Given the description of an element on the screen output the (x, y) to click on. 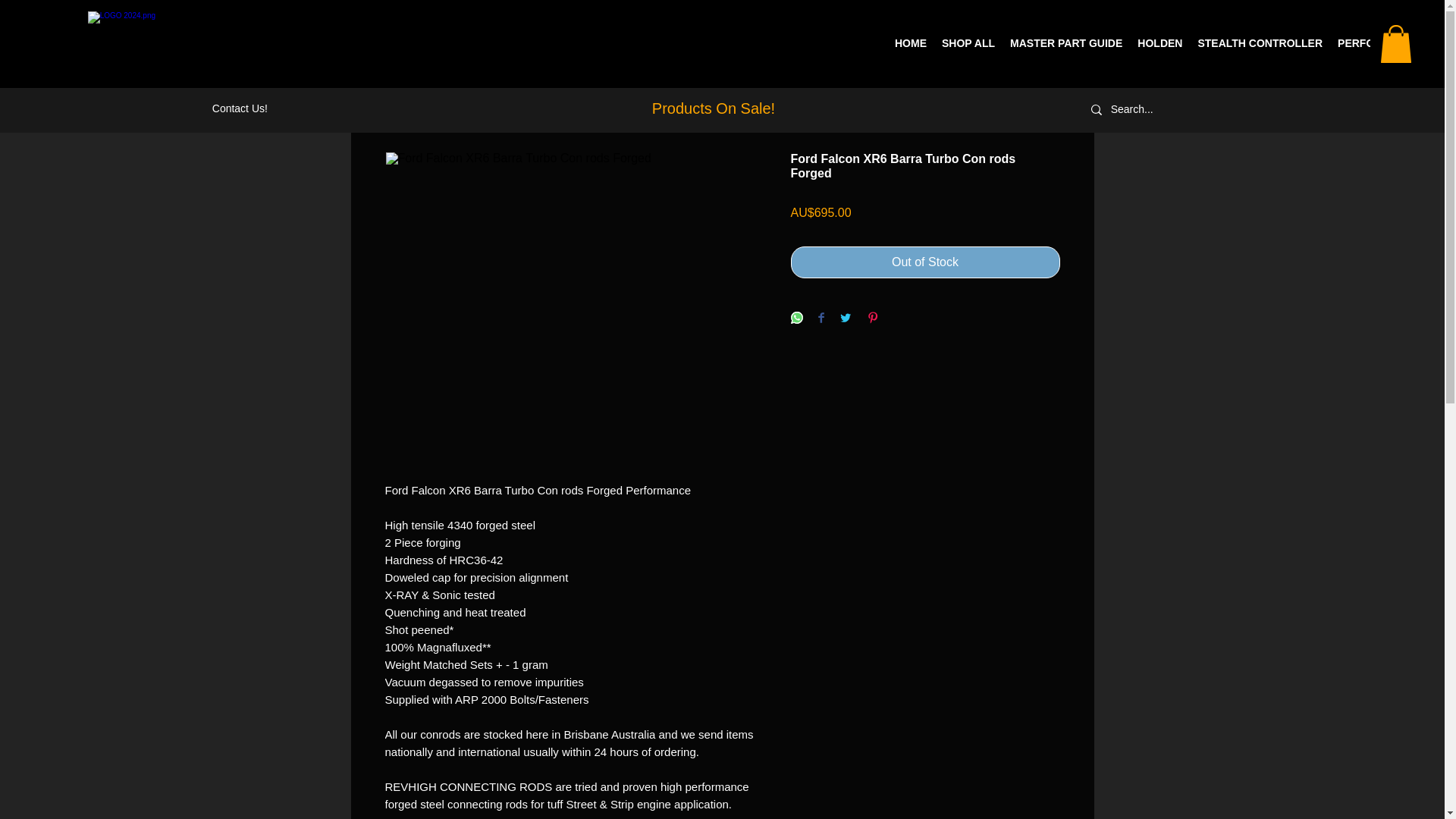
STEALTH CONTROLLER (1259, 43)
HOME (910, 43)
SHOP ALL (968, 43)
HOLDEN (1159, 43)
